Given the description of an element on the screen output the (x, y) to click on. 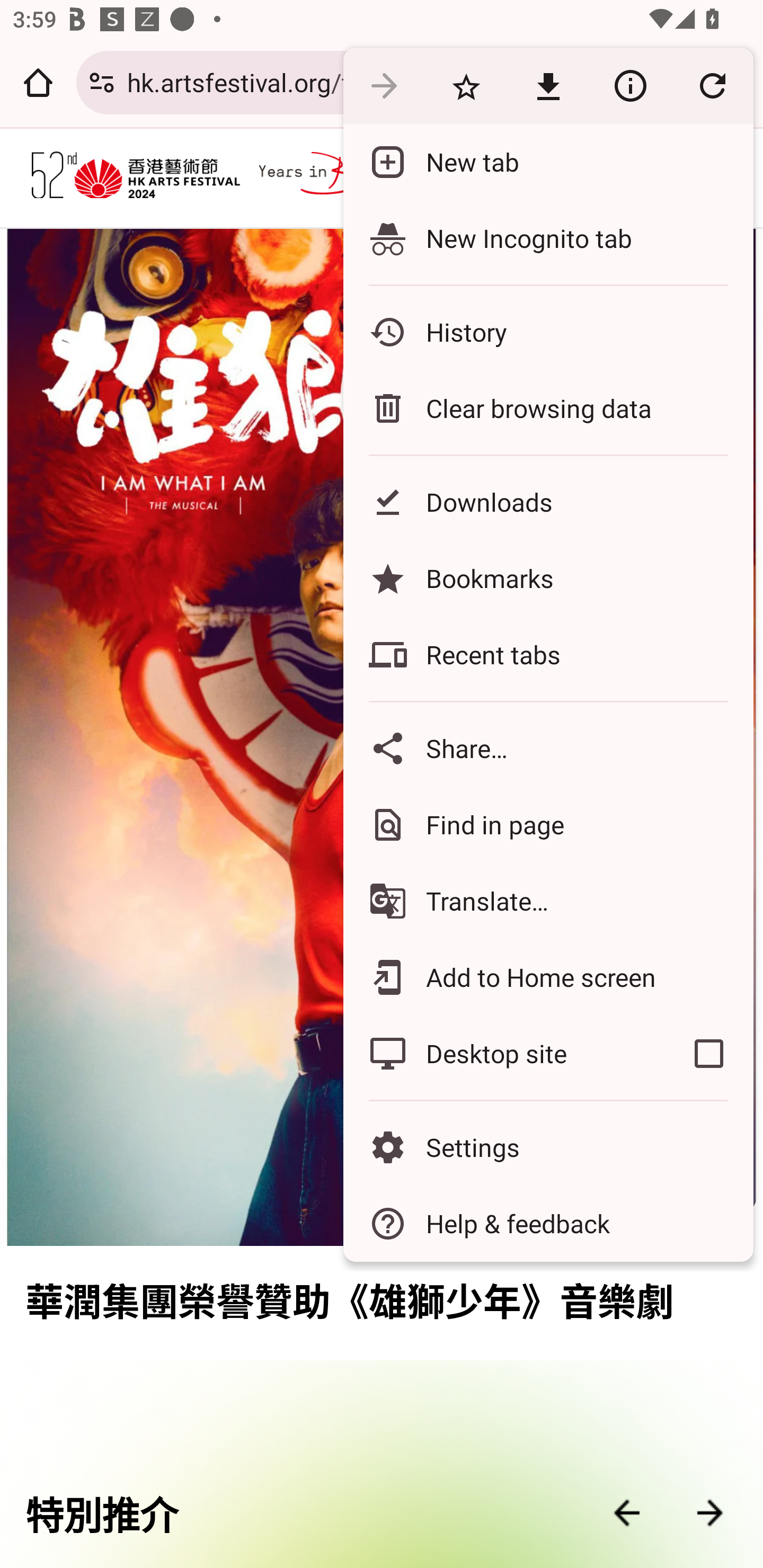
Forward (383, 85)
Bookmark (465, 85)
Download (548, 85)
Page info (630, 85)
Refresh (712, 85)
New tab (548, 161)
New Incognito tab (548, 237)
History (548, 332)
Clear browsing data (548, 408)
Downloads (548, 502)
Bookmarks (548, 578)
Recent tabs (548, 654)
Share… (548, 748)
Find in page (548, 824)
Translate… (548, 900)
Add to Home screen (548, 977)
Desktop site Turn on Request desktop site (503, 1053)
Settings (548, 1146)
Help & feedback (548, 1223)
